Given the description of an element on the screen output the (x, y) to click on. 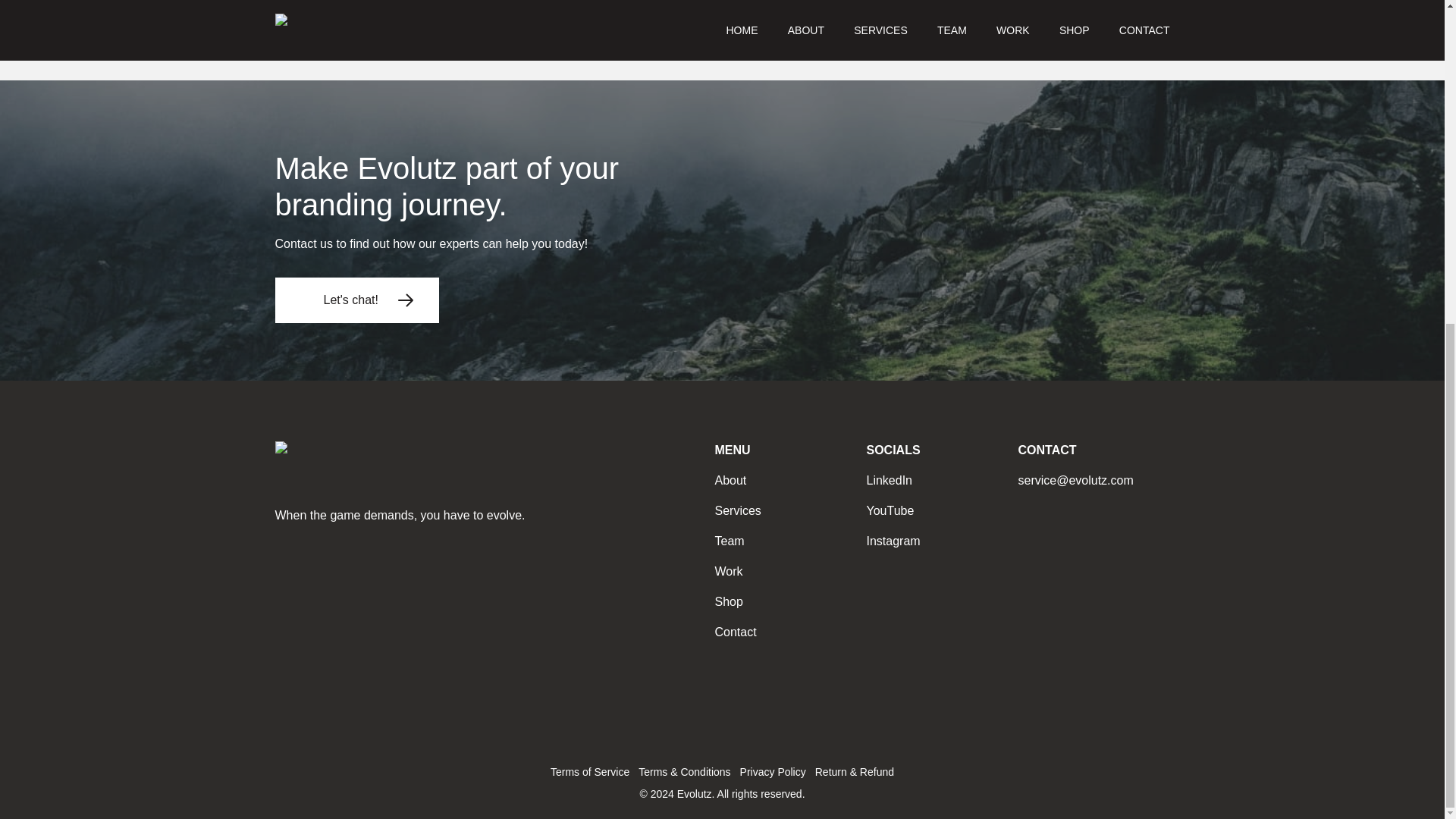
Let's chat! (356, 299)
LinkedIn (889, 480)
Shop (728, 601)
Instagram (893, 540)
Let's chat! (356, 290)
Services (737, 510)
Team (729, 540)
About (729, 480)
YouTube (890, 510)
Privacy Policy (772, 771)
Contact (734, 631)
Work (728, 571)
Terms of Service (589, 771)
